Given the description of an element on the screen output the (x, y) to click on. 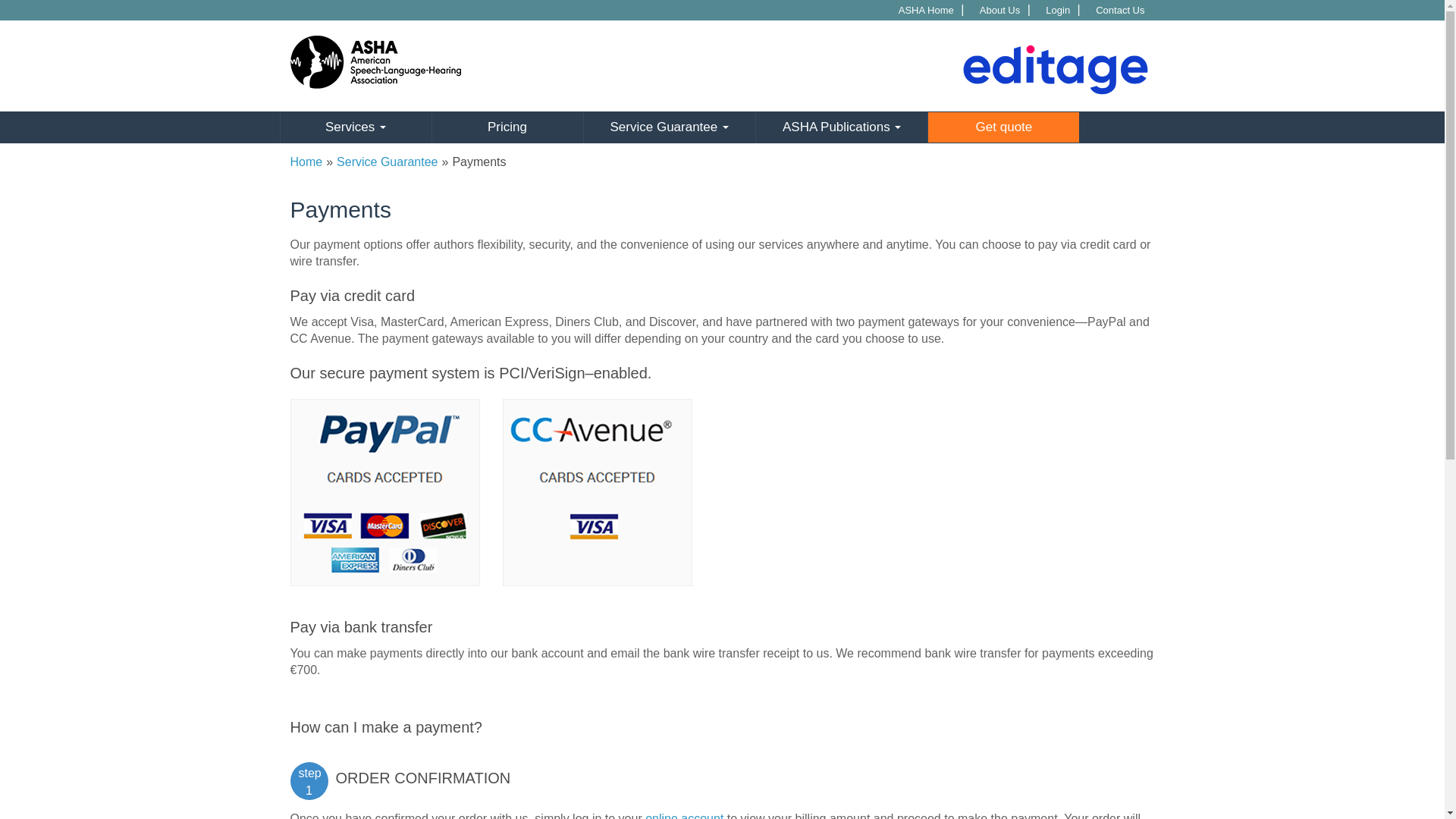
Home (305, 161)
ASHA Home (928, 10)
Service Guarantee (668, 127)
Service Guarantee (387, 161)
Pricing (506, 127)
Get quote (1002, 127)
Contact Us (1122, 10)
About Us (1001, 10)
Services (354, 127)
online account (684, 815)
ASHA Publications (841, 127)
Login (1059, 10)
